Given the description of an element on the screen output the (x, y) to click on. 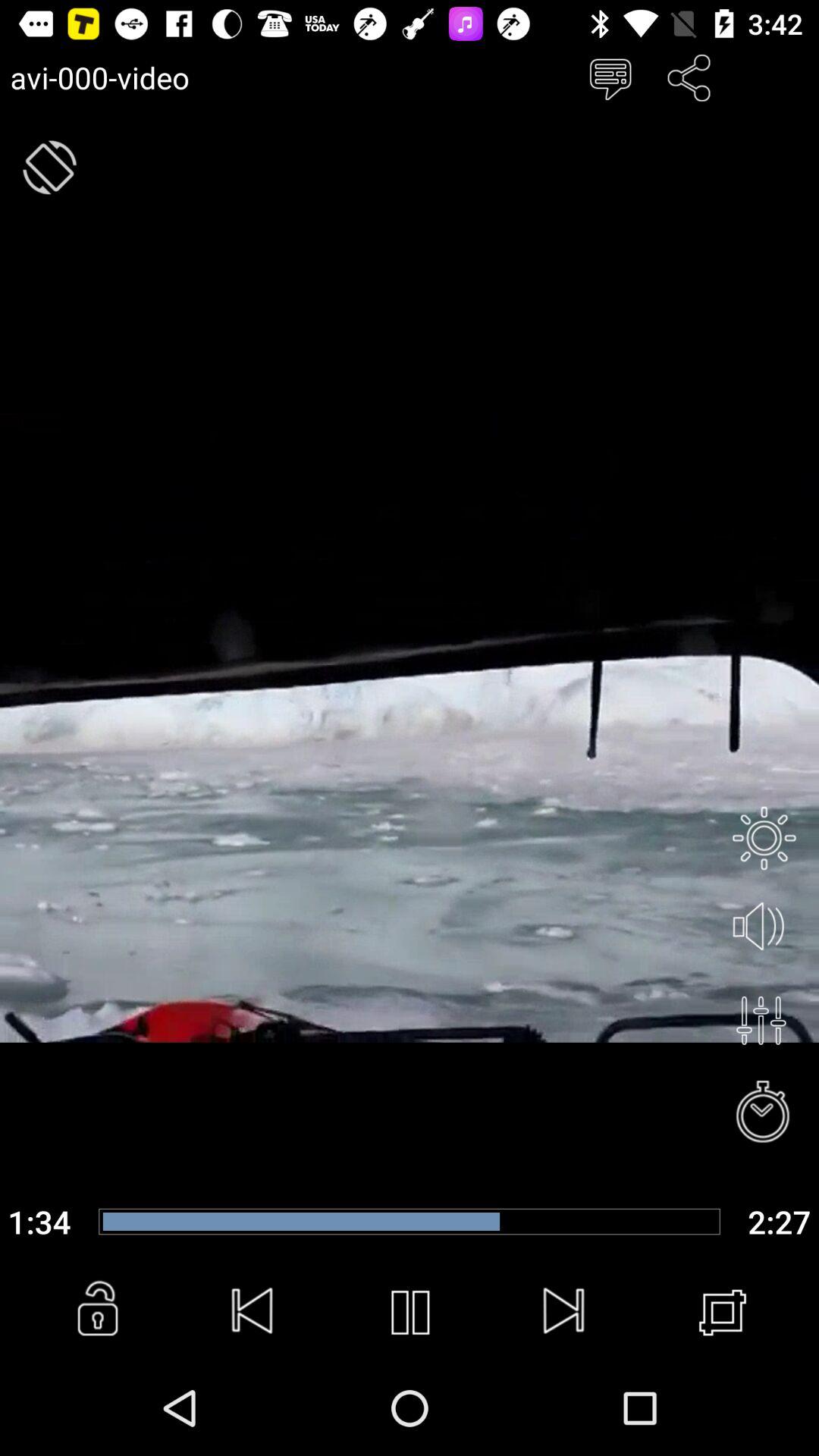
toggle chat window (609, 77)
